Given the description of an element on the screen output the (x, y) to click on. 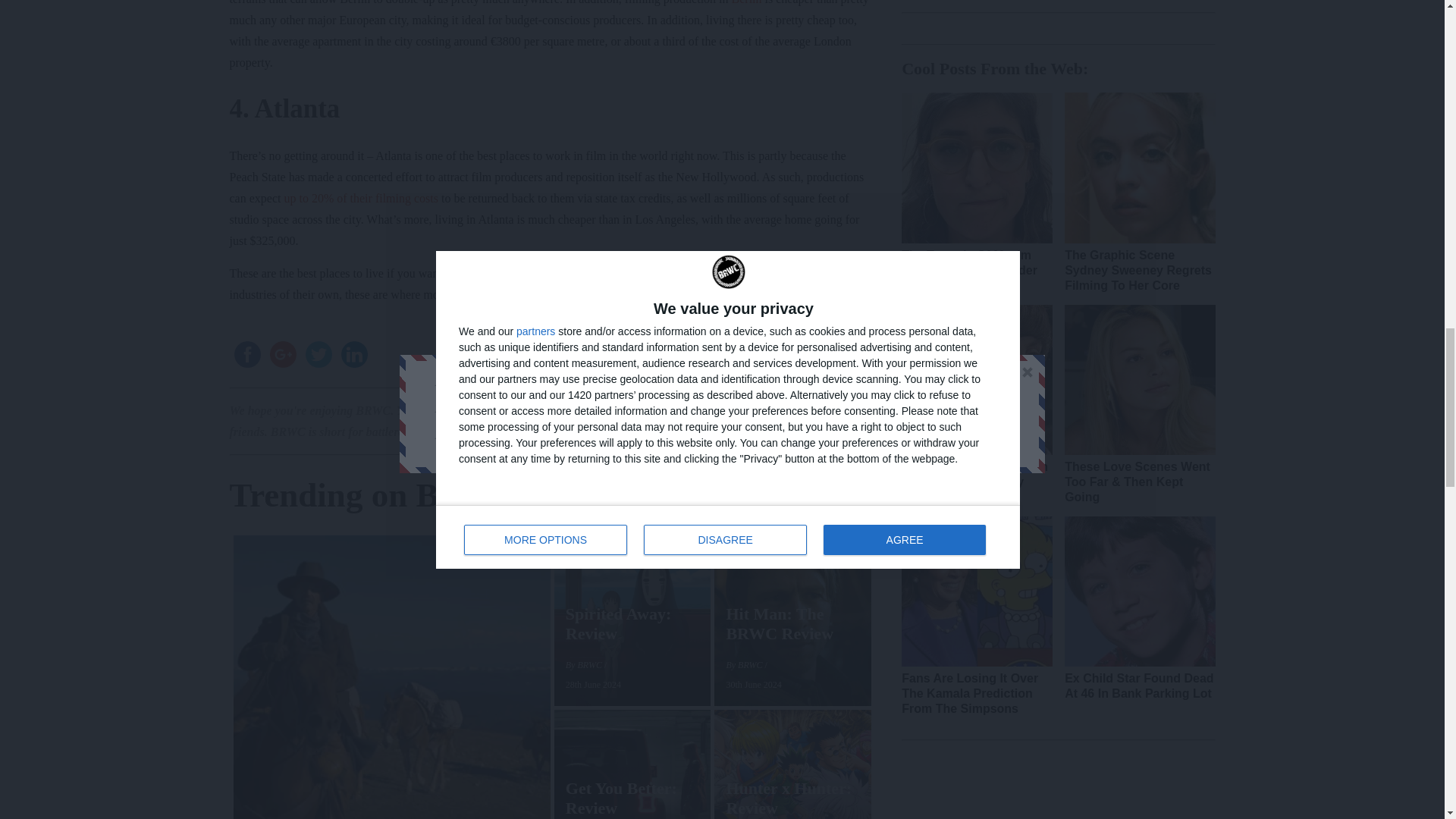
google (282, 354)
linkedin (354, 354)
twitter (317, 354)
facebook (246, 354)
